Given the description of an element on the screen output the (x, y) to click on. 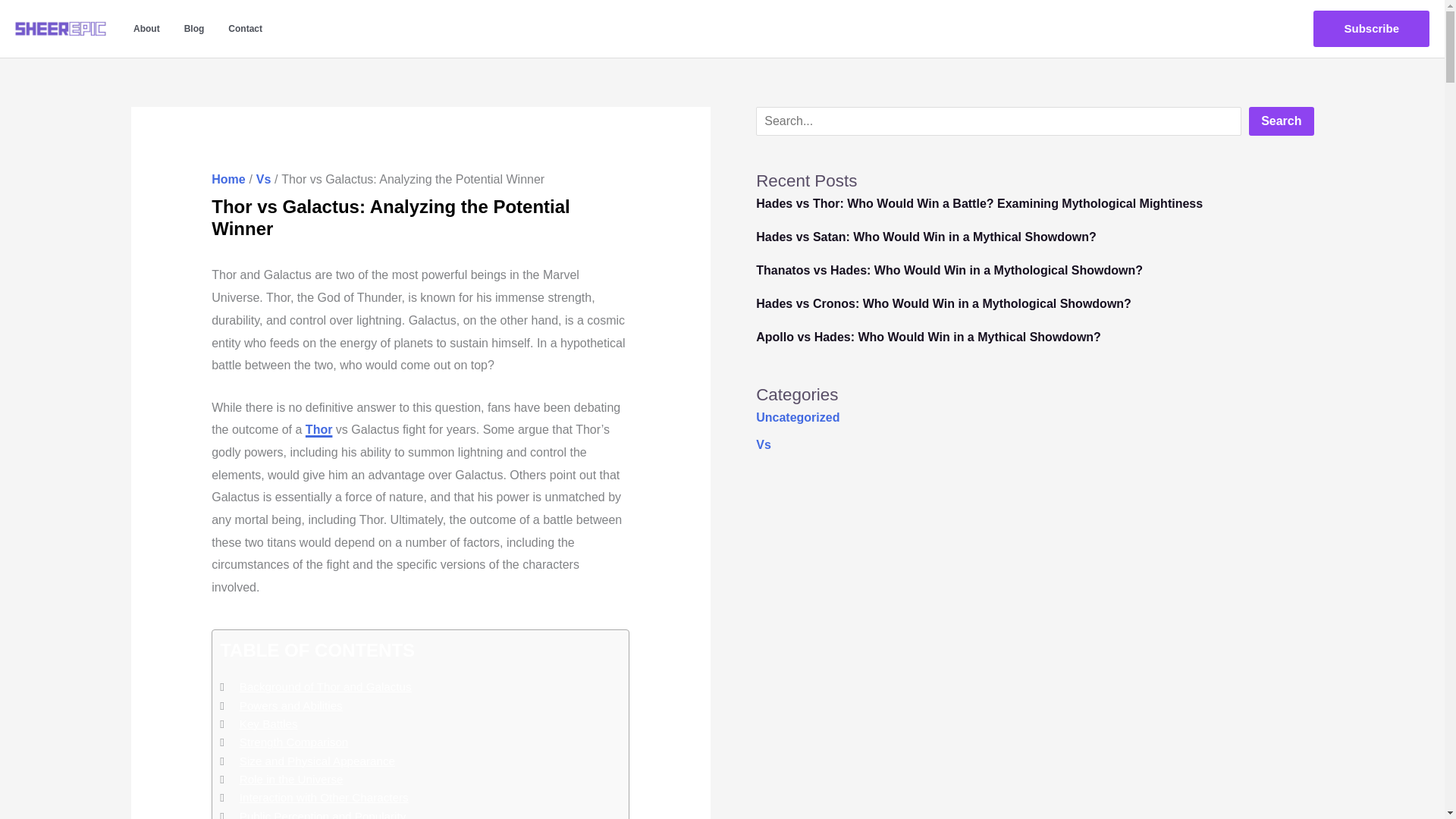
Blog (193, 28)
Strength Comparison (294, 742)
Interaction with Other Characters (324, 797)
Search (1281, 121)
About (145, 28)
Role in the Universe (291, 779)
Thor (319, 429)
Subscribe (1371, 28)
Size and Physical Appearance (317, 761)
Home (227, 178)
Interaction with Other Characters (324, 797)
Key Battles (269, 723)
Background of Thor and Galactus (326, 687)
Public Perception and Popularity (323, 813)
Role in the Universe (291, 779)
